Given the description of an element on the screen output the (x, y) to click on. 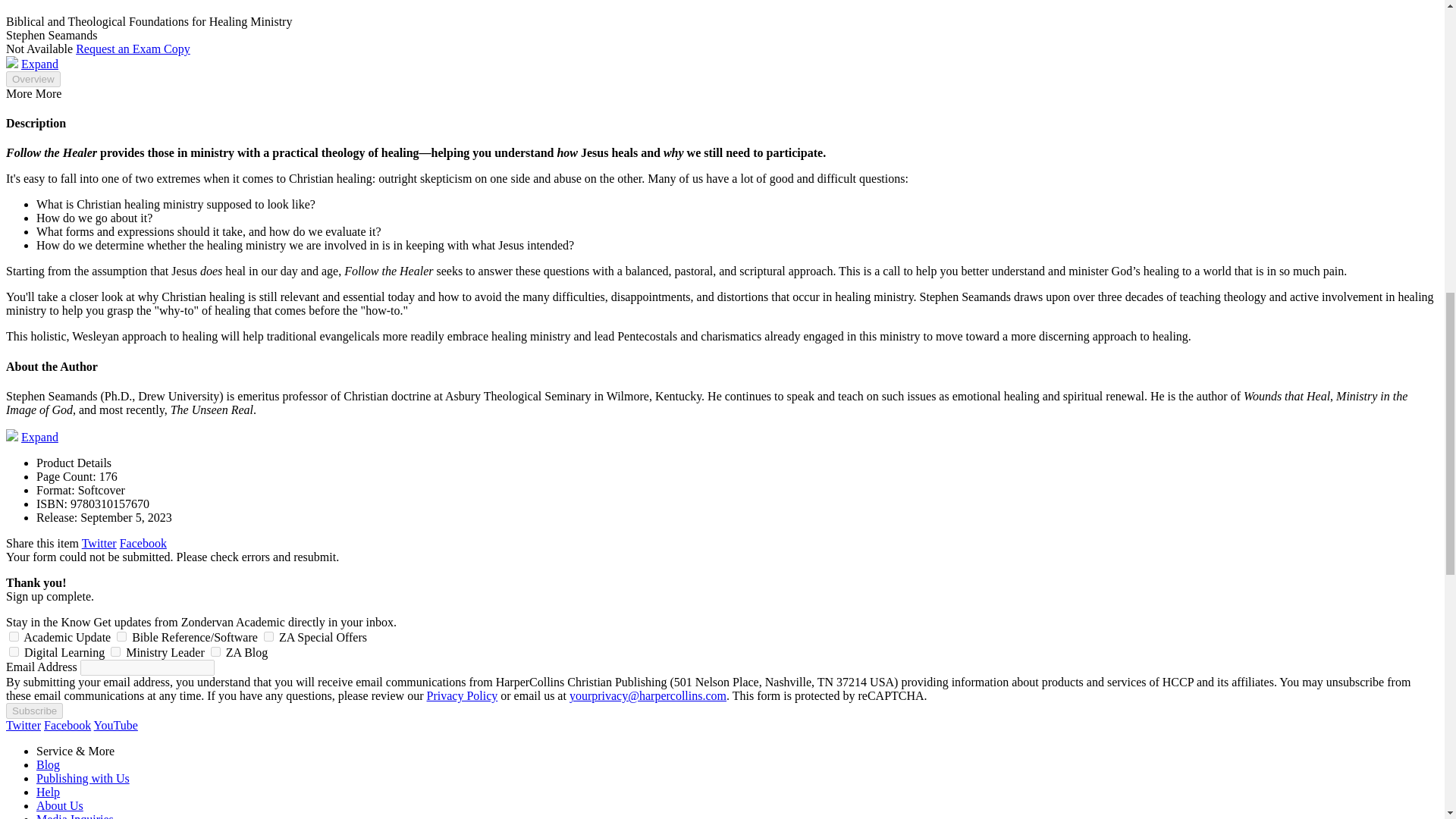
Yes (216, 651)
Yes (115, 651)
Subscribe (33, 710)
Yes (121, 636)
Yes (268, 636)
Yes (13, 636)
Yes (13, 651)
